Given the description of an element on the screen output the (x, y) to click on. 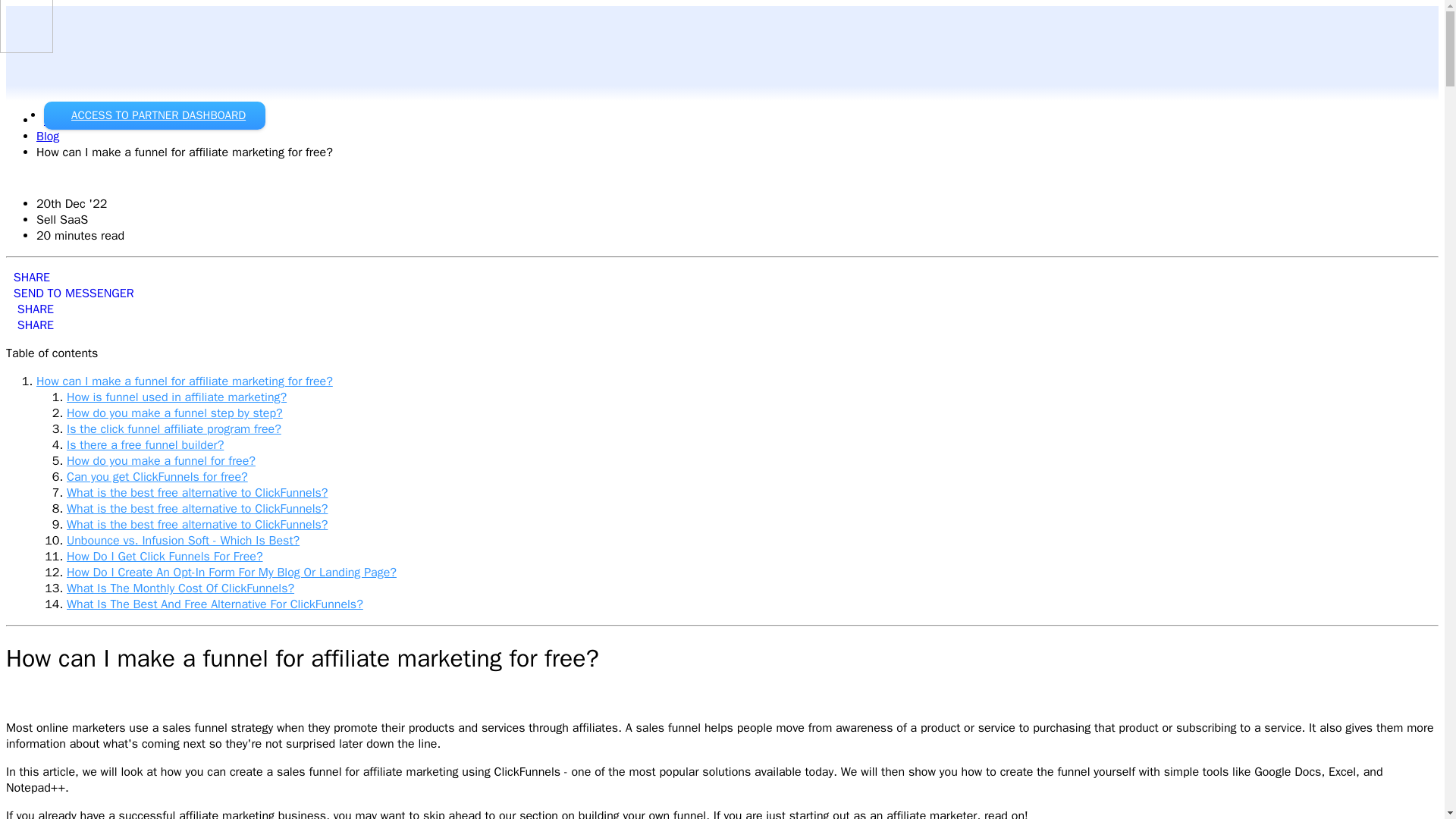
How do you make a funnel for free? (161, 460)
Is there a free funnel builder? (145, 444)
What Is The Best And Free Alternative For ClickFunnels? (214, 604)
Unbounce vs. Infusion Soft - Which Is Best? (182, 540)
Blog (50, 92)
What is the best free alternative to ClickFunnels? (196, 524)
What Is The Monthly Cost Of ClickFunnels? (180, 588)
How Do I Get Click Funnels For Free? (164, 556)
How do you make a funnel for free? (161, 460)
Is the click funnel affiliate program free? (173, 428)
What is the best free alternative to ClickFunnels? (196, 492)
What is the best free alternative to ClickFunnels? (196, 524)
Sell SaaS (69, 120)
SEND TO MESSENGER (69, 293)
Products to resell (83, 60)
